Given the description of an element on the screen output the (x, y) to click on. 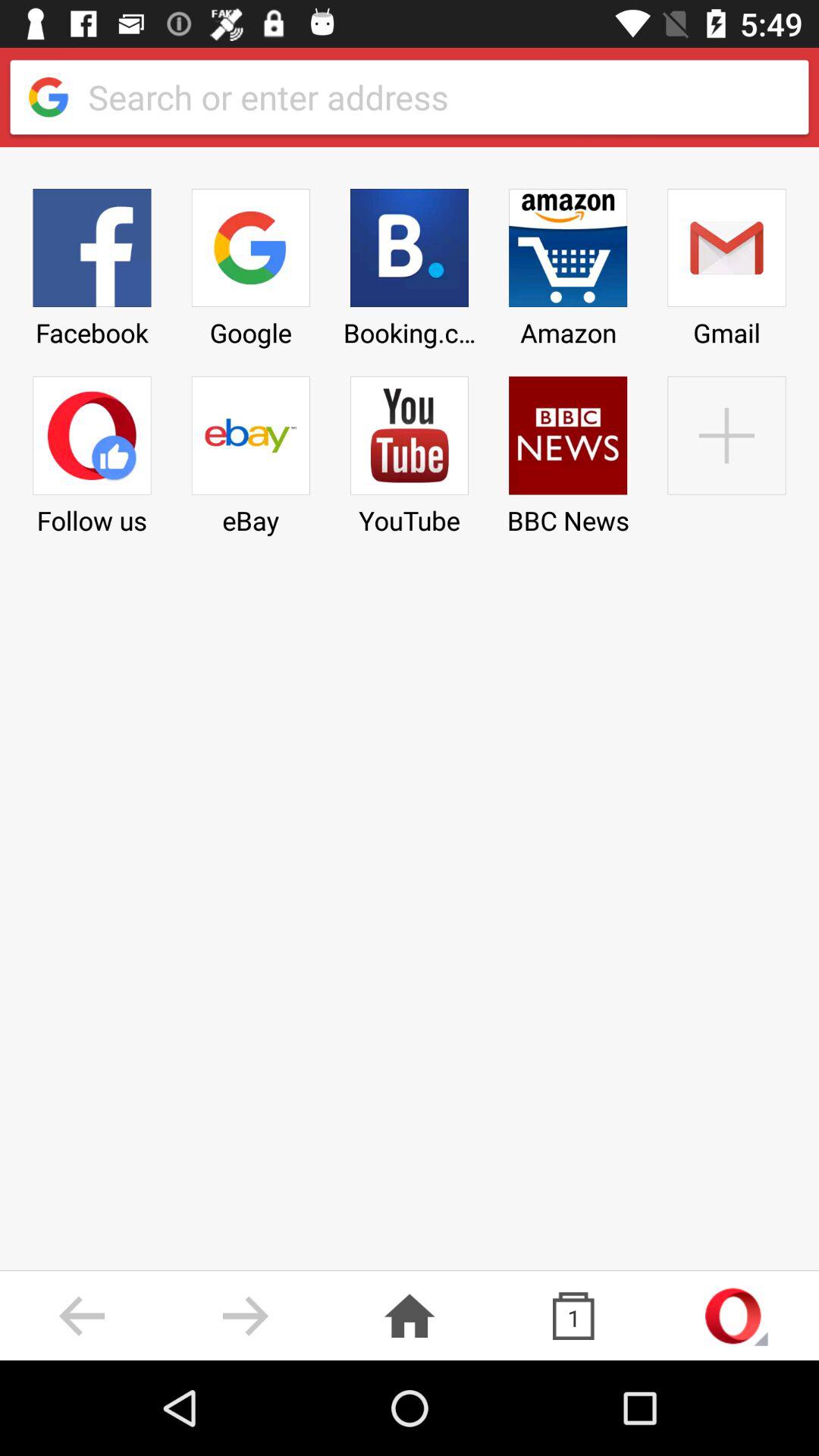
press item to the left of amazon (409, 262)
